Given the description of an element on the screen output the (x, y) to click on. 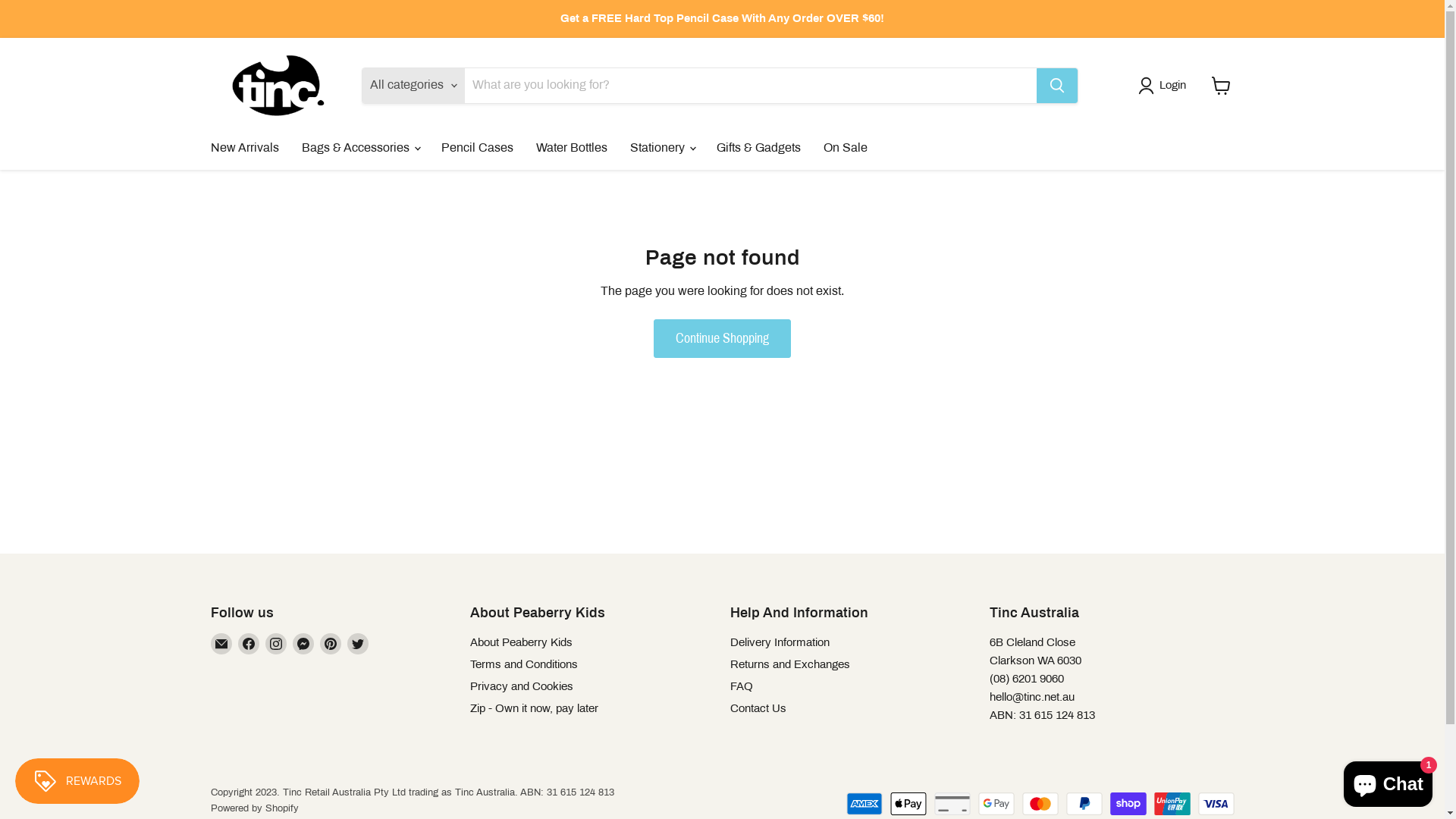
Login Element type: text (1165, 85)
Find us on Messenger Element type: text (302, 643)
Gifts & Gadgets Element type: text (758, 147)
New Arrivals Element type: text (243, 147)
Water Bottles Element type: text (571, 147)
Continue Shopping Element type: text (721, 338)
Find us on Facebook Element type: text (248, 643)
Smile.io Rewards Program Launcher Element type: hover (77, 780)
FAQ Element type: text (740, 686)
Delivery Information Element type: text (778, 642)
On Sale Element type: text (844, 147)
Email Tinc Australia Element type: text (221, 643)
Contact Us Element type: text (757, 708)
Find us on Instagram Element type: text (275, 643)
Find us on Twitter Element type: text (357, 643)
Powered by Shopify Element type: text (254, 808)
Shopify online store chat Element type: hover (1388, 780)
View cart Element type: text (1221, 85)
Find us on Pinterest Element type: text (330, 643)
Terms and Conditions Element type: text (523, 664)
Privacy and Cookies Element type: text (521, 686)
Pencil Cases Element type: text (476, 147)
About Peaberry Kids Element type: text (521, 642)
Zip - Own it now, pay later Element type: text (534, 708)
Returns and Exchanges Element type: text (789, 664)
